Given the description of an element on the screen output the (x, y) to click on. 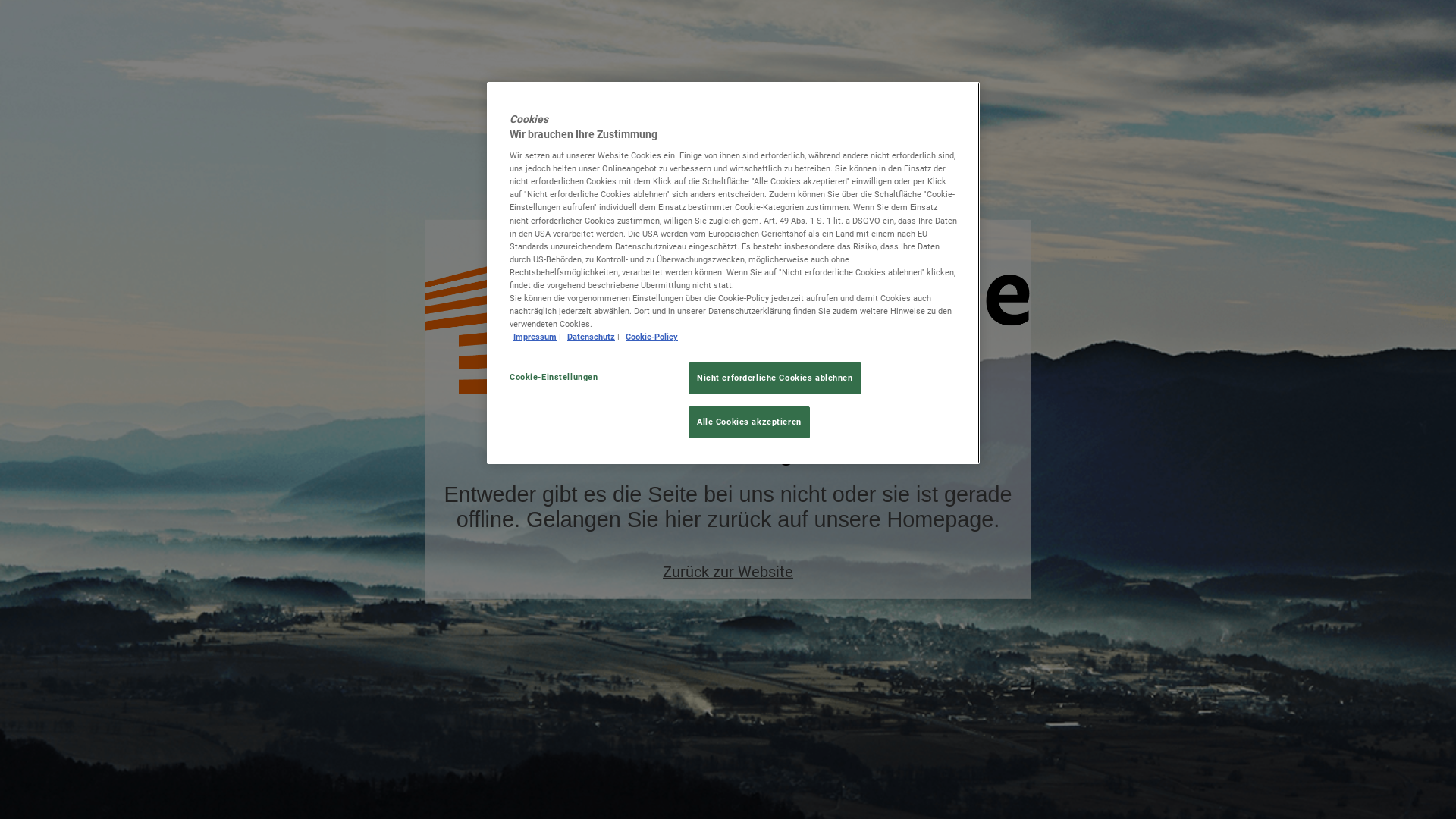
All_for_One_Group_RGB Element type: hover (727, 330)
Cookie-Policy Element type: text (651, 336)
Cookie-Einstellungen Element type: text (560, 377)
Alle Cookies akzeptieren Element type: text (748, 422)
Datenschutz Element type: text (591, 336)
Nicht erforderliche Cookies ablehnen Element type: text (774, 378)
Impressum Element type: text (534, 336)
